Given the description of an element on the screen output the (x, y) to click on. 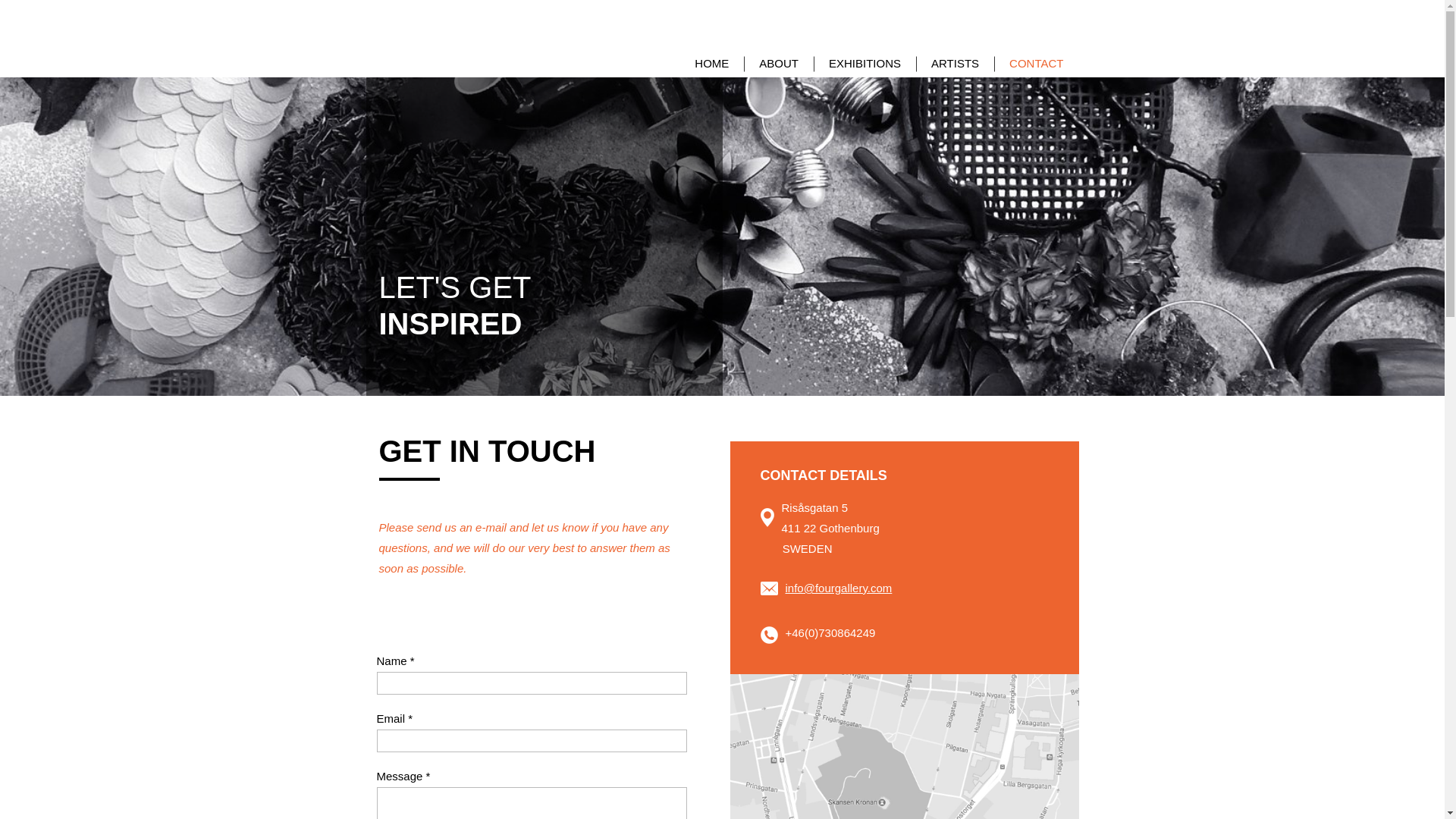
ARTISTS (955, 63)
HOME (711, 63)
ABOUT (778, 63)
EXHIBITIONS (864, 63)
CONTACT (1036, 63)
